Given the description of an element on the screen output the (x, y) to click on. 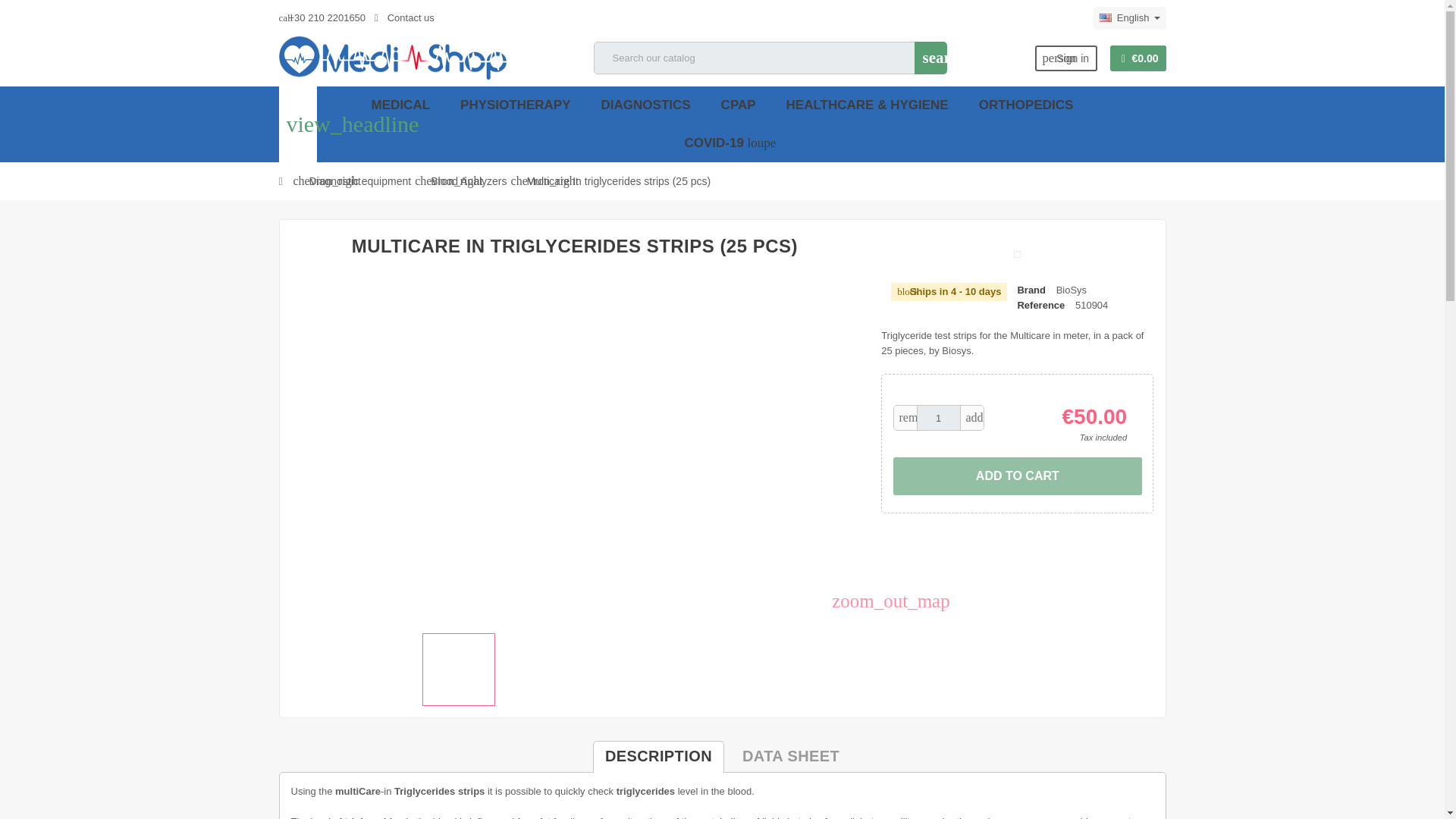
Log in to your customer account (1066, 57)
ORTHOPEDICS (1026, 105)
search (930, 57)
1 (938, 417)
  English (1129, 17)
add (972, 417)
MEDICAL (400, 105)
PHYSIOTHERAPY (514, 105)
COVID-19 loupe (721, 143)
DATA SHEET (790, 757)
CPAP (738, 105)
Blood Analyzers (468, 180)
Contact us (403, 17)
DESCRIPTION (657, 757)
